Given the description of an element on the screen output the (x, y) to click on. 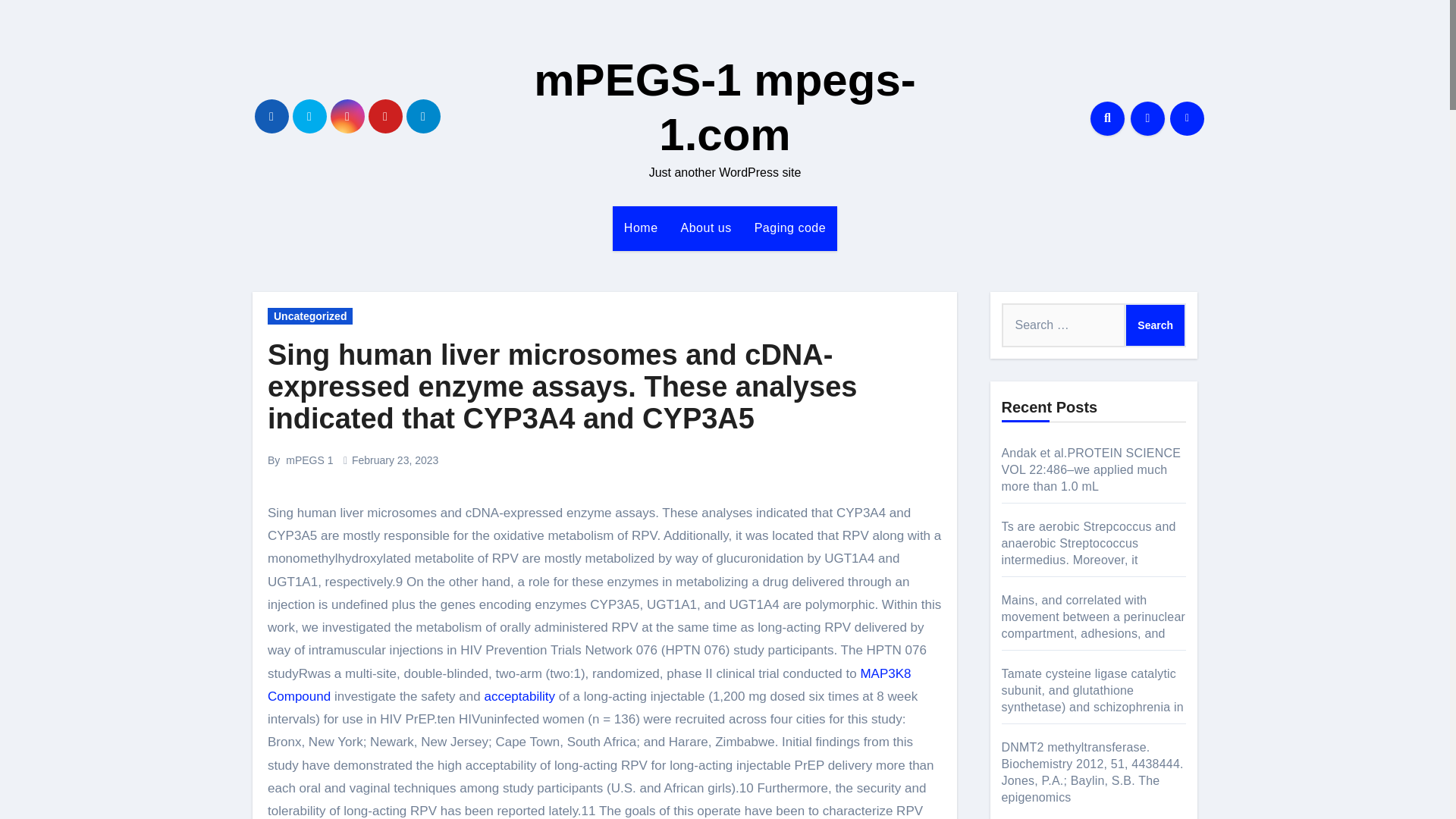
Search (1155, 325)
Search (1155, 325)
acceptability (518, 696)
mPEGS 1 (309, 460)
February 23, 2023 (395, 460)
Home (640, 228)
Uncategorized (309, 315)
mPEGS-1 mpegs-1.com (724, 106)
MAP3K8 Compound (589, 684)
Home (640, 228)
About us (705, 228)
Paging code (789, 228)
